Given the description of an element on the screen output the (x, y) to click on. 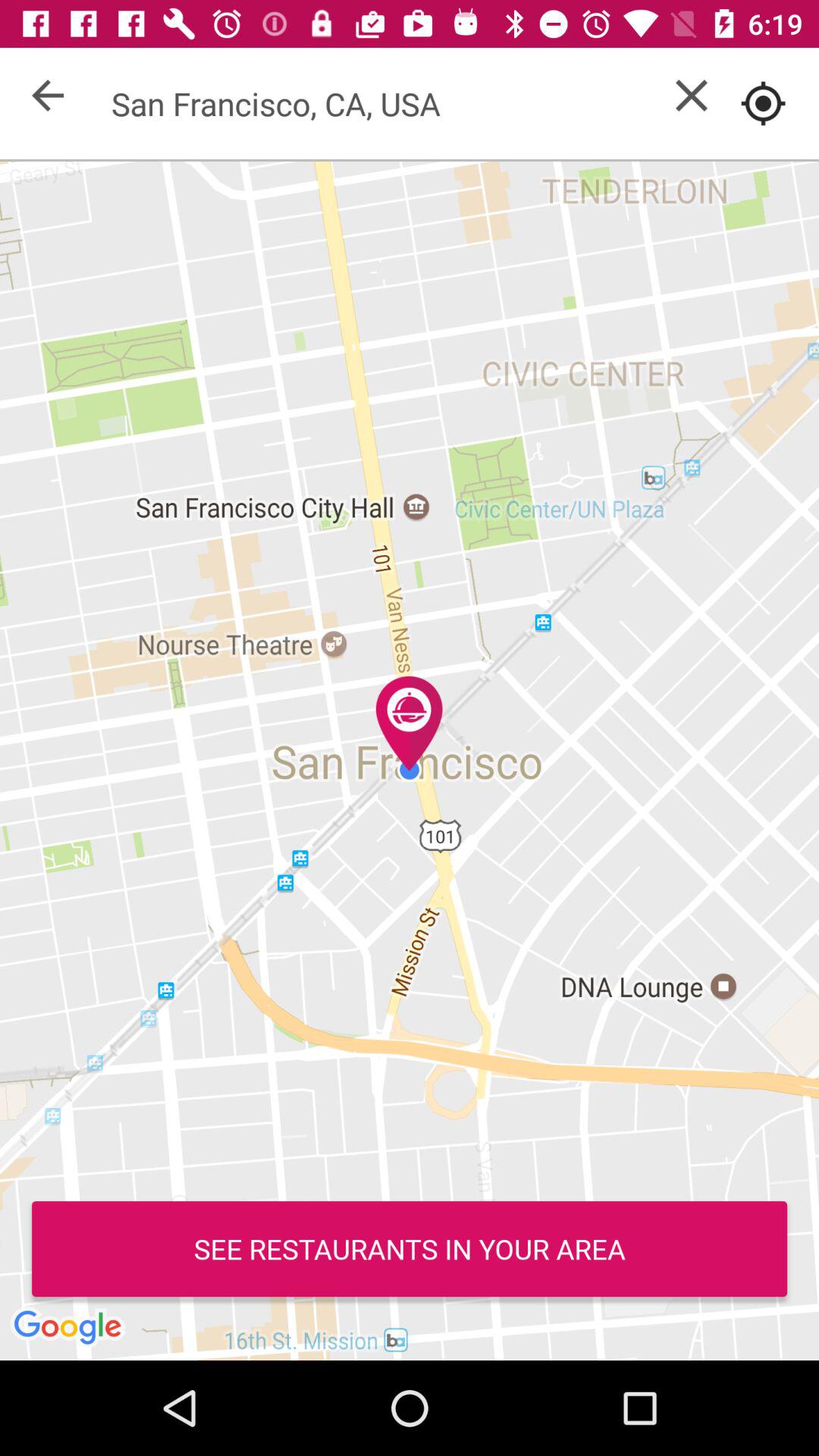
close out screen (691, 95)
